Given the description of an element on the screen output the (x, y) to click on. 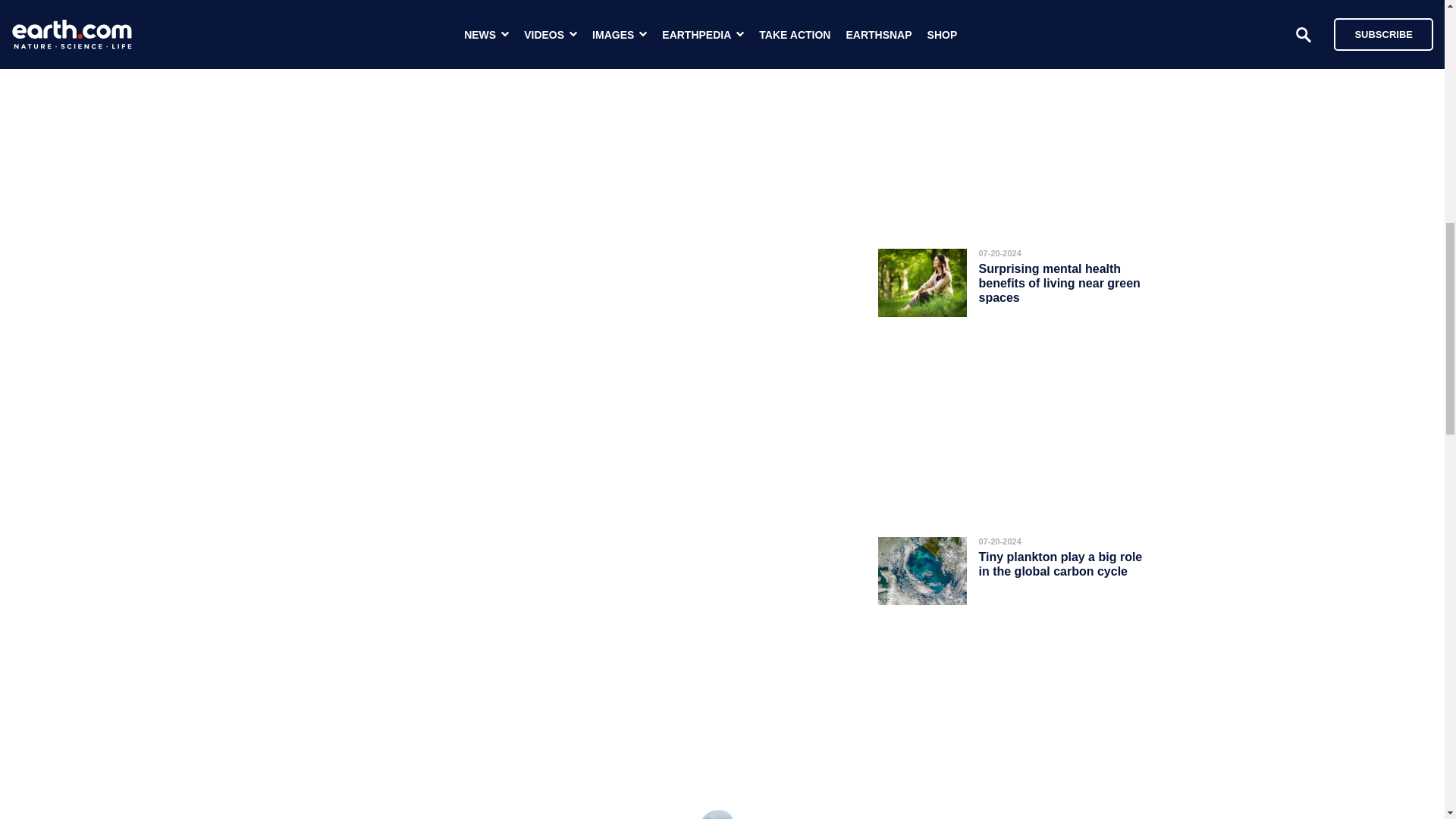
Tiny plankton play a big role in the global carbon cycle (1059, 563)
